Given the description of an element on the screen output the (x, y) to click on. 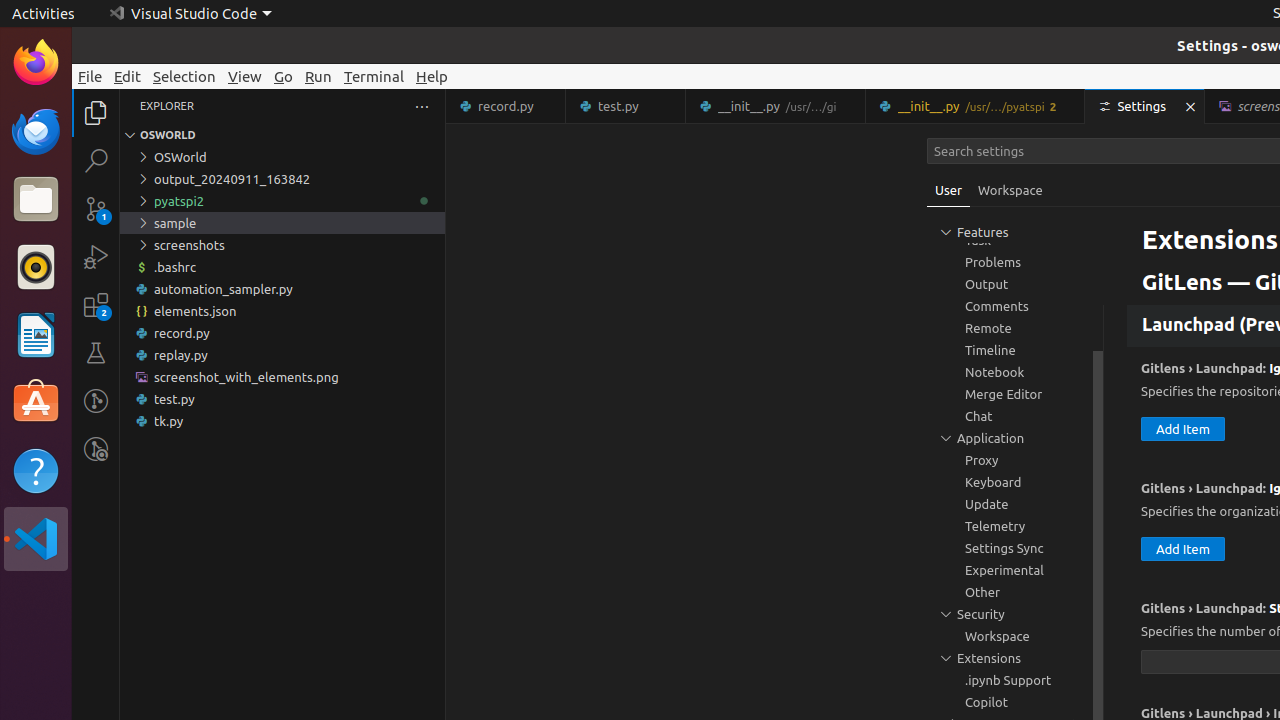
Firefox Web Browser Element type: push-button (36, 63)
Source Control (Ctrl+Shift+G G) - 1 pending changes Source Control (Ctrl+Shift+G G) - 1 pending changes Element type: page-tab (96, 208)
__init__.py Element type: page-tab (975, 106)
output_20240911_163842 Element type: tree-item (282, 179)
Selection Element type: push-button (184, 76)
